Given the description of an element on the screen output the (x, y) to click on. 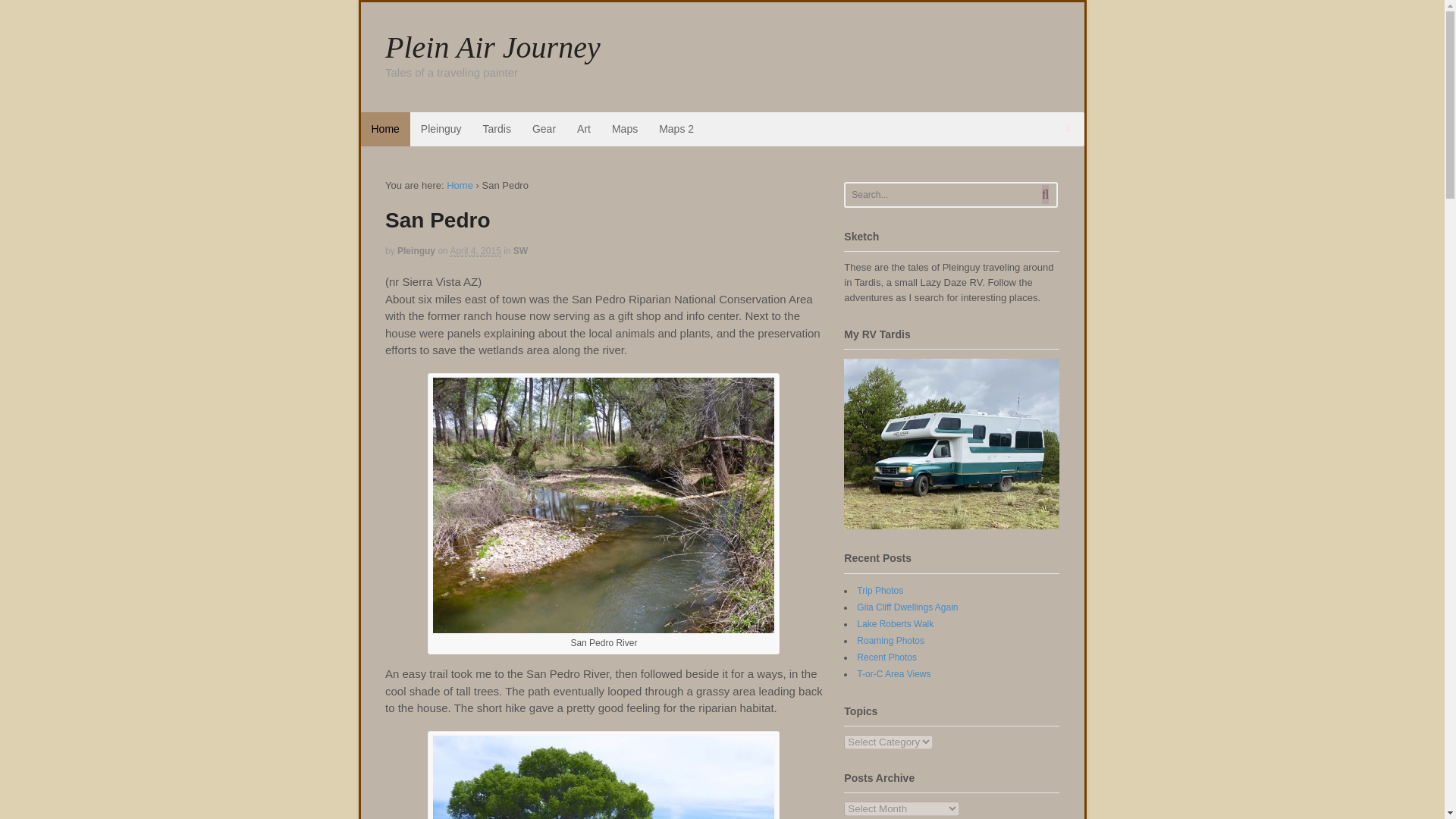
Plein Air Journey (459, 184)
2015-04-04T10:25:58-0600 (474, 251)
Plein Air Journey (492, 47)
Maps 2 (675, 129)
Art (583, 129)
Maps (624, 129)
View all items in SW (520, 250)
Tardis (496, 129)
Search... (940, 194)
Home (385, 129)
Pleinguy (440, 129)
Posts by Pleinguy (416, 250)
Gear (543, 129)
